Given the description of an element on the screen output the (x, y) to click on. 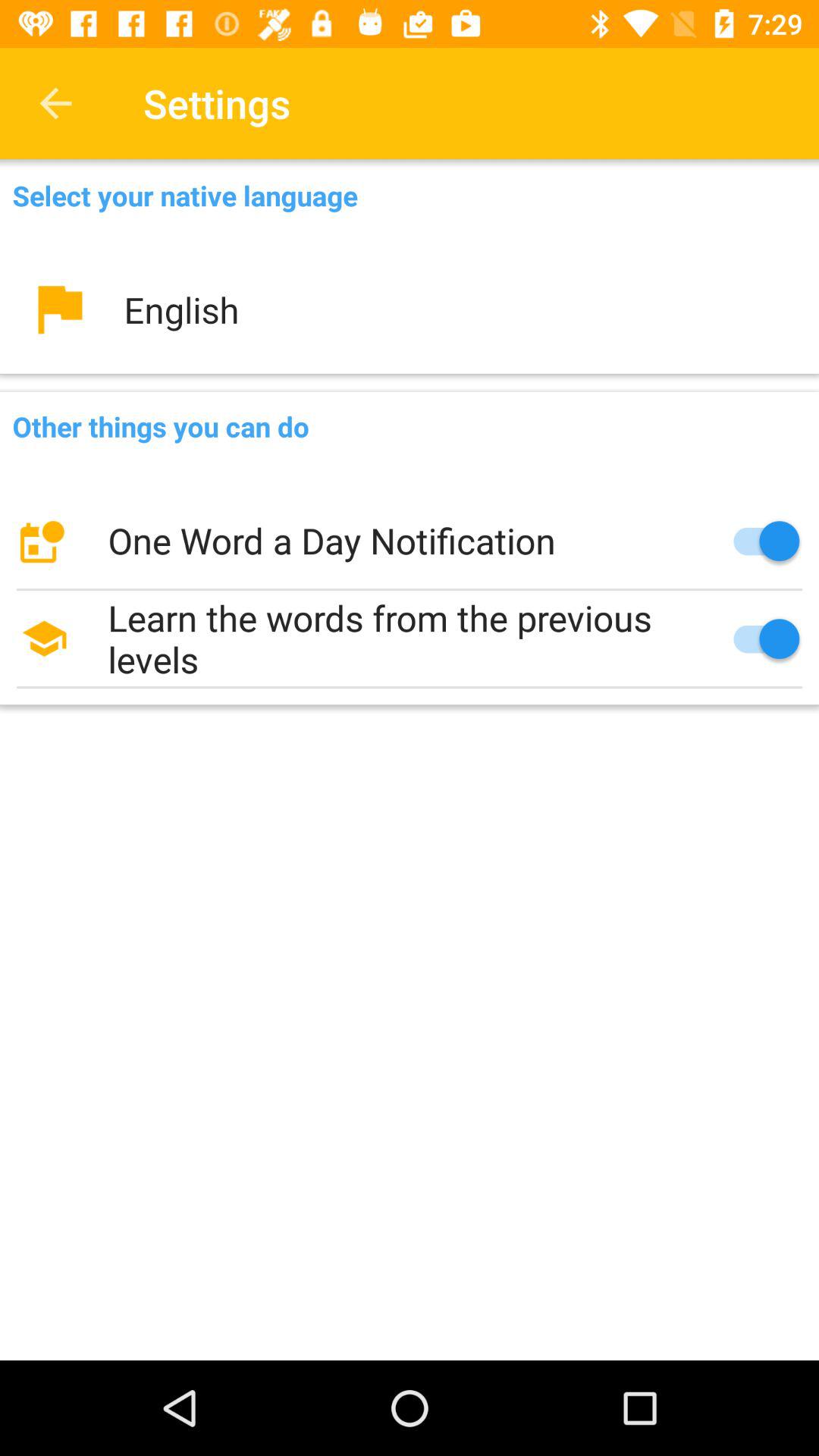
scroll to one word a (409, 540)
